Given the description of an element on the screen output the (x, y) to click on. 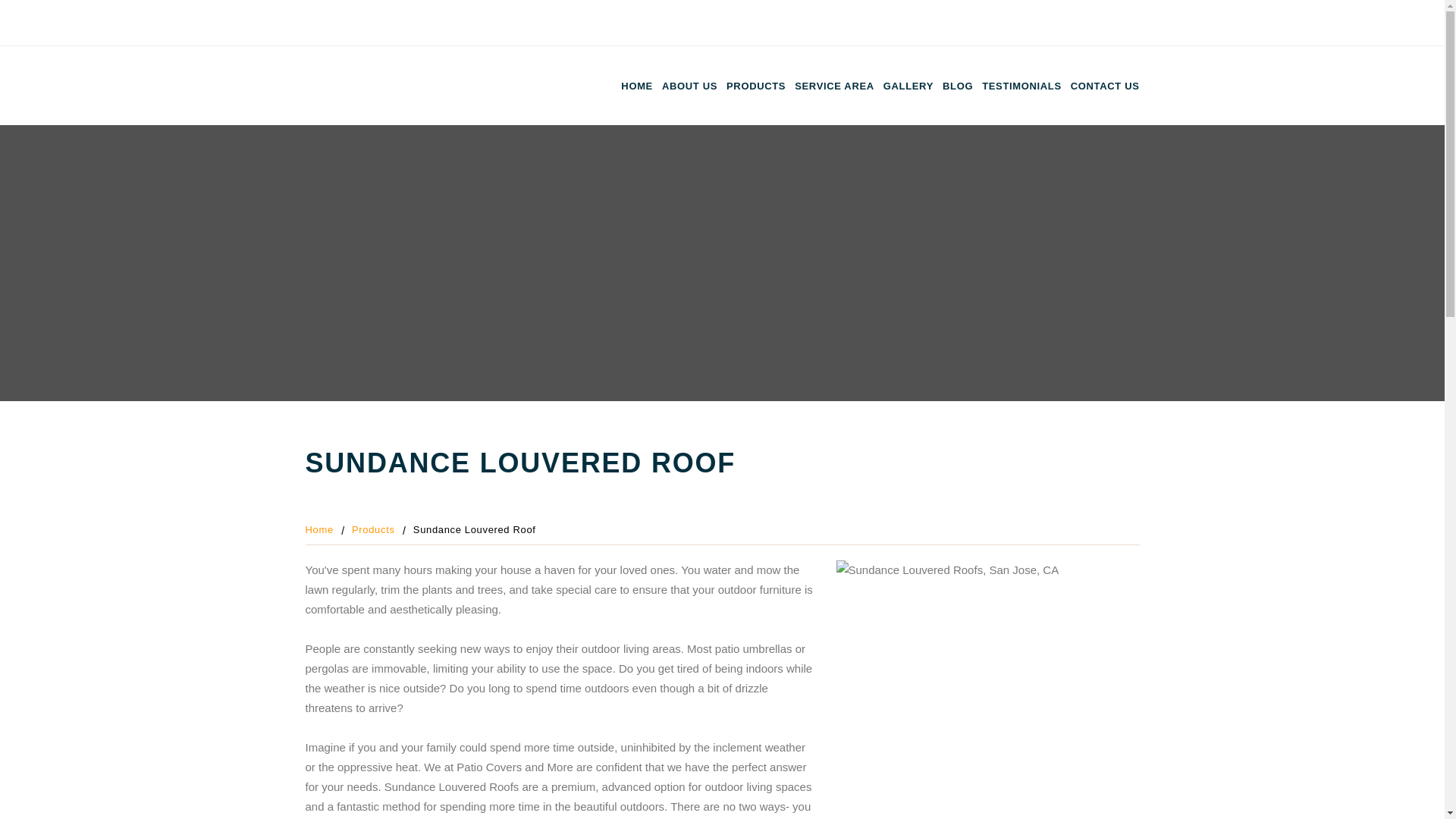
TESTIMONIALS (1021, 85)
HOME (636, 85)
Home (318, 529)
ABOUT US (689, 85)
Sundance Louvered Roofs, San Jose, CA (986, 681)
CONTACT US (1105, 85)
GALLERY (908, 85)
PRODUCTS (756, 85)
BLOG (957, 85)
Products (373, 529)
